Given the description of an element on the screen output the (x, y) to click on. 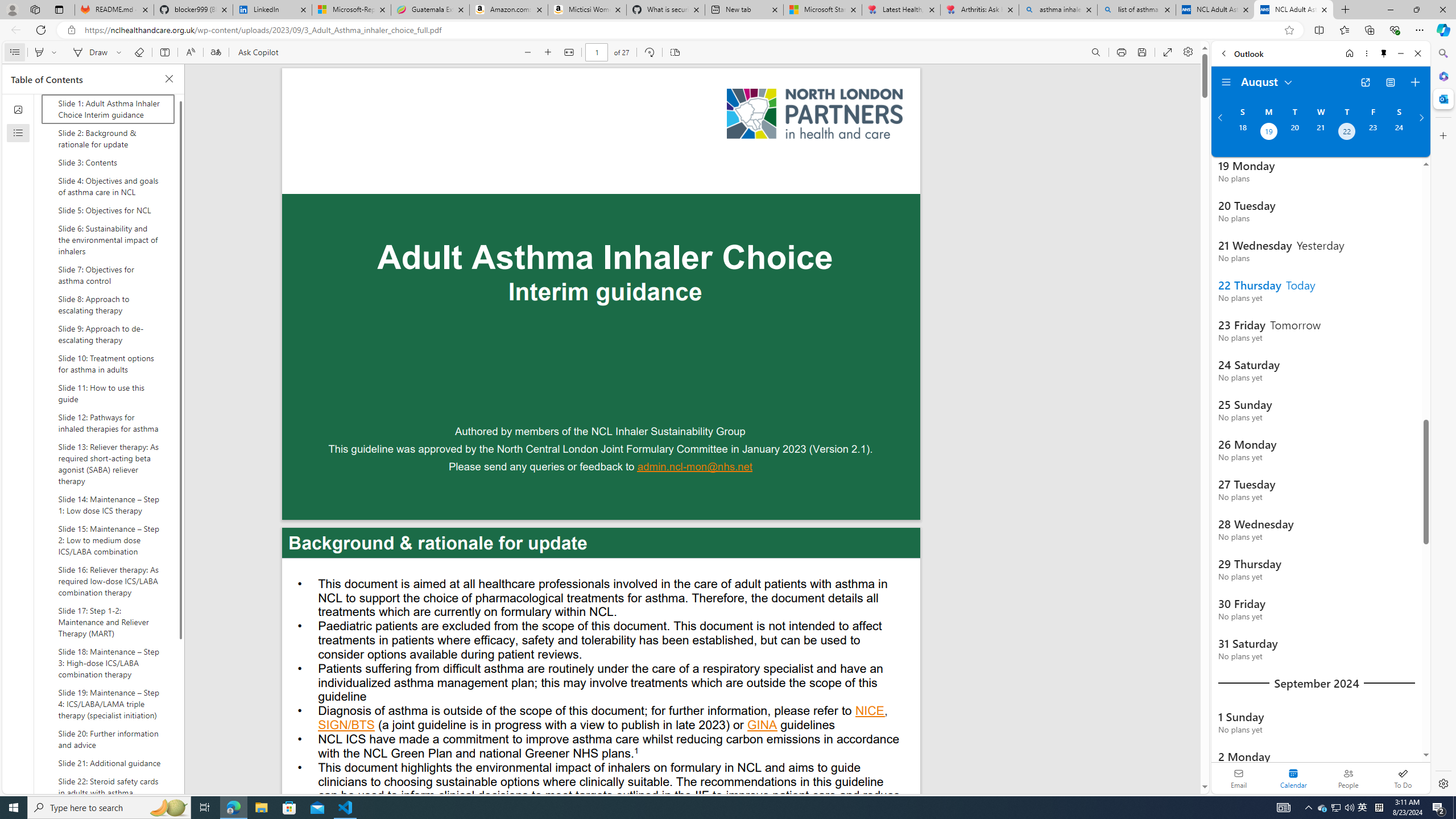
Email (1238, 777)
Unlabeled graphic (814, 114)
Enter PDF full screen (1167, 52)
NICE (870, 711)
Find (Ctrl + F) (1096, 52)
